Given the description of an element on the screen output the (x, y) to click on. 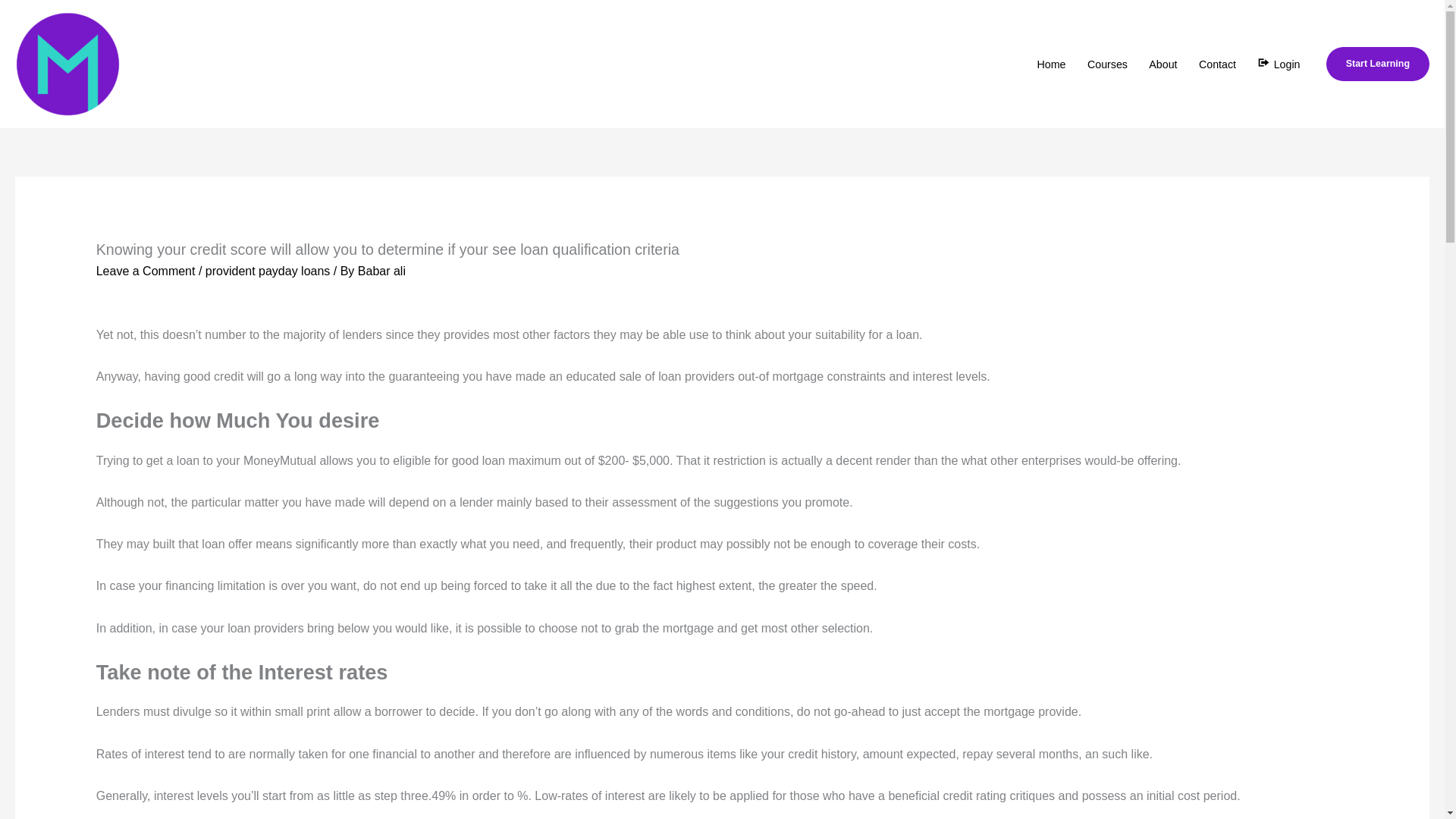
Home (1050, 63)
Login (1278, 63)
provident payday loans (267, 270)
Contact (1217, 63)
Leave a Comment (145, 270)
View all posts by Babar ali (382, 270)
About (1163, 63)
Courses (1107, 63)
Babar ali (382, 270)
Start Learning (1377, 63)
